Given the description of an element on the screen output the (x, y) to click on. 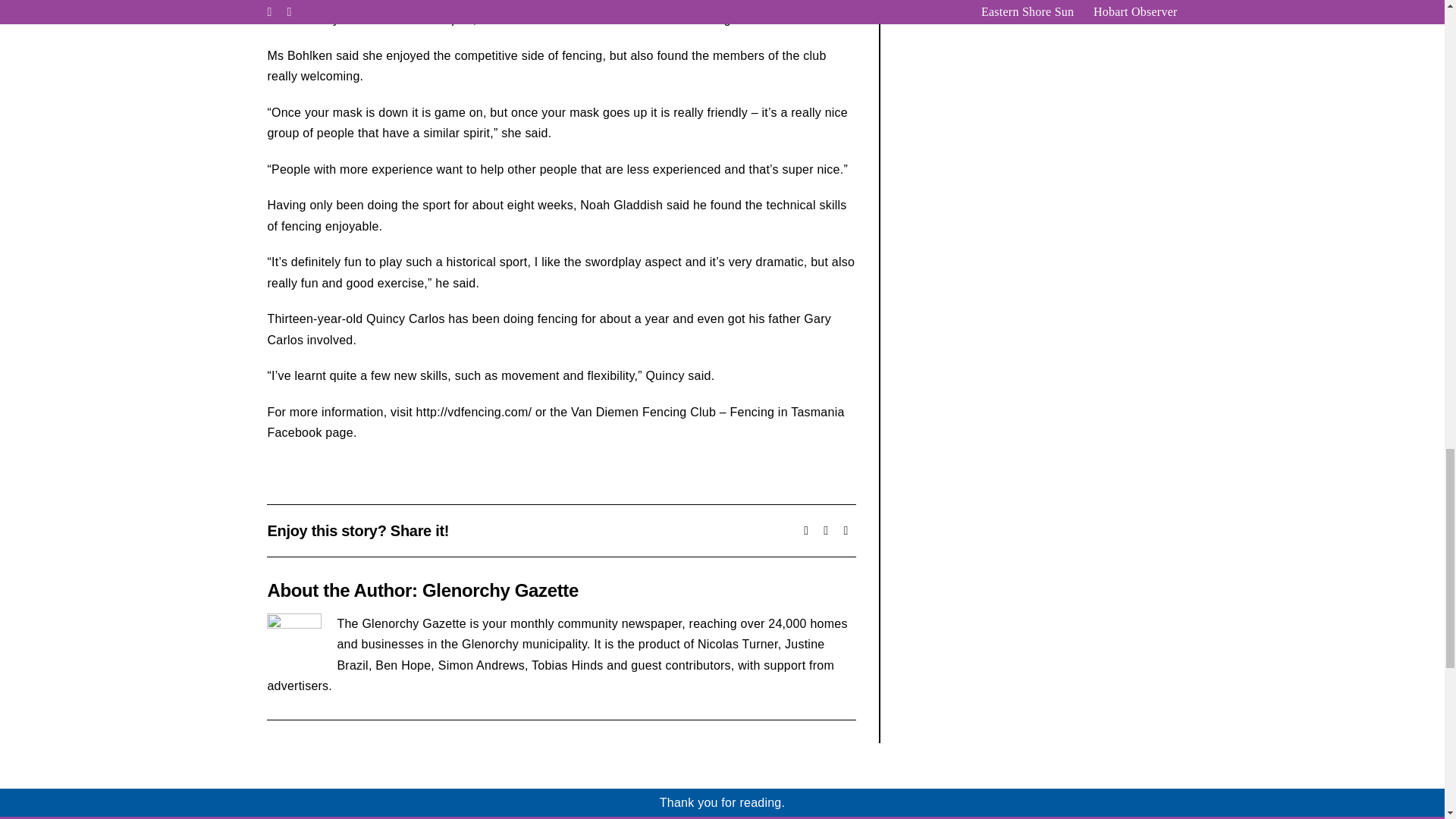
Twitter (825, 530)
Email (845, 530)
Facebook (805, 530)
Glenorchy Gazette (500, 589)
